Given the description of an element on the screen output the (x, y) to click on. 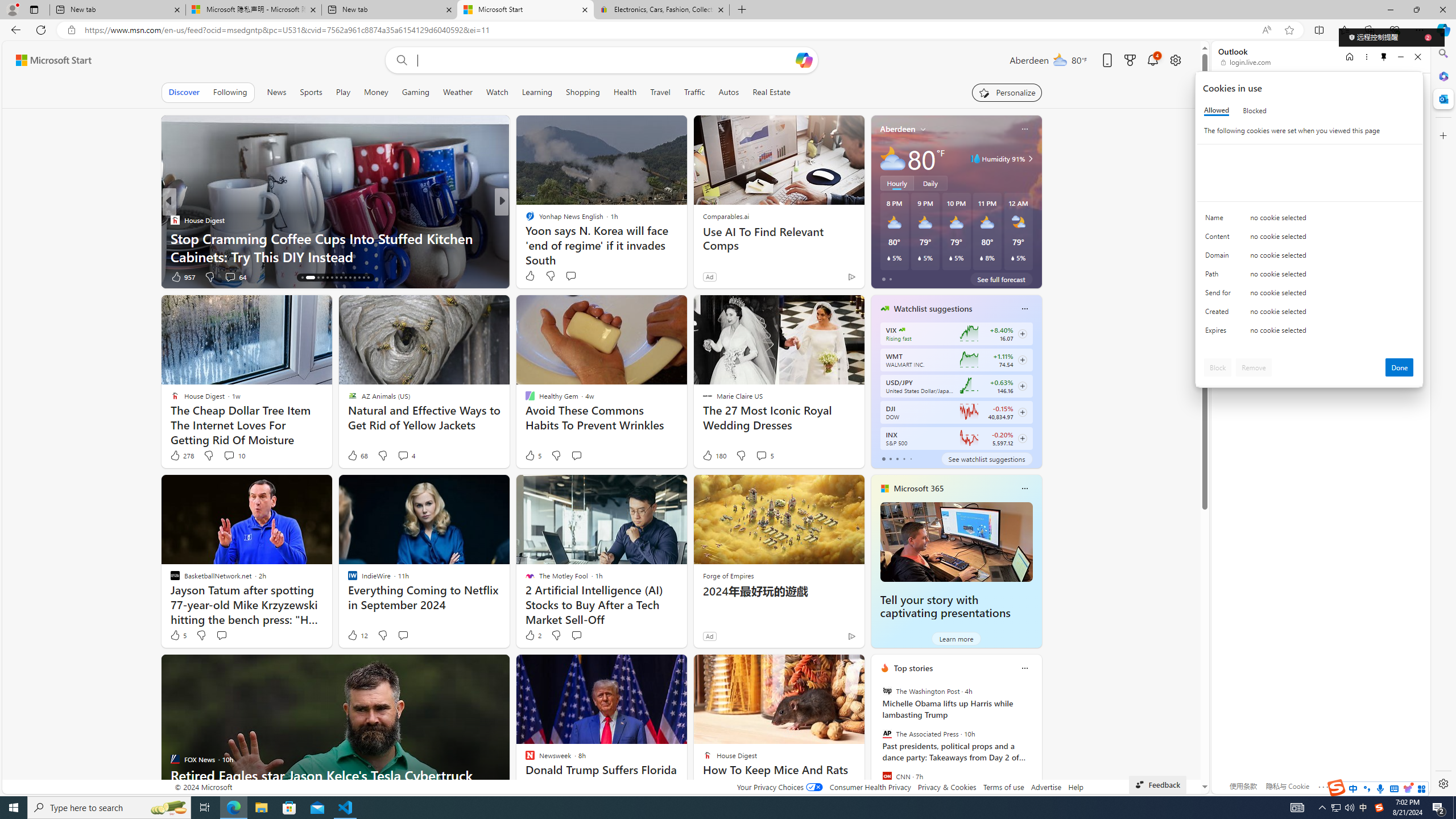
 UPI News (524, 219)
547 Like (532, 276)
Hide this story (830, 668)
AutomationID: tab-20 (331, 277)
Use AI To Find Relevant Comps (778, 238)
View comments 10 Comment (228, 455)
tab-2 (897, 458)
Class: weather-current-precipitation-glyph (1012, 257)
View comments 7 Comment (583, 276)
Mostly cloudy (892, 158)
